Given the description of an element on the screen output the (x, y) to click on. 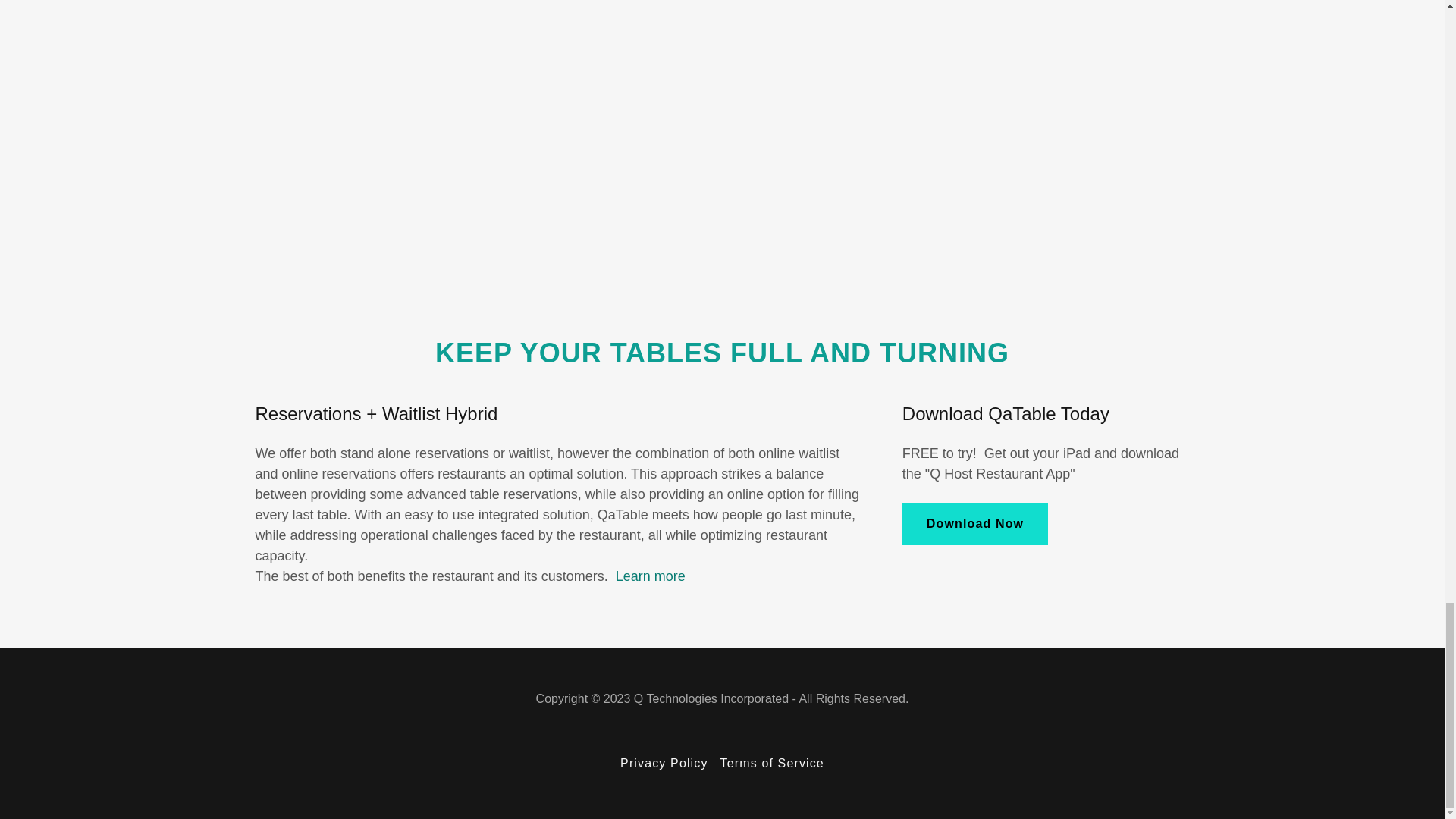
Privacy Policy (663, 763)
Terms of Service (771, 763)
Download Now (975, 523)
Learn more (650, 575)
